Given the description of an element on the screen output the (x, y) to click on. 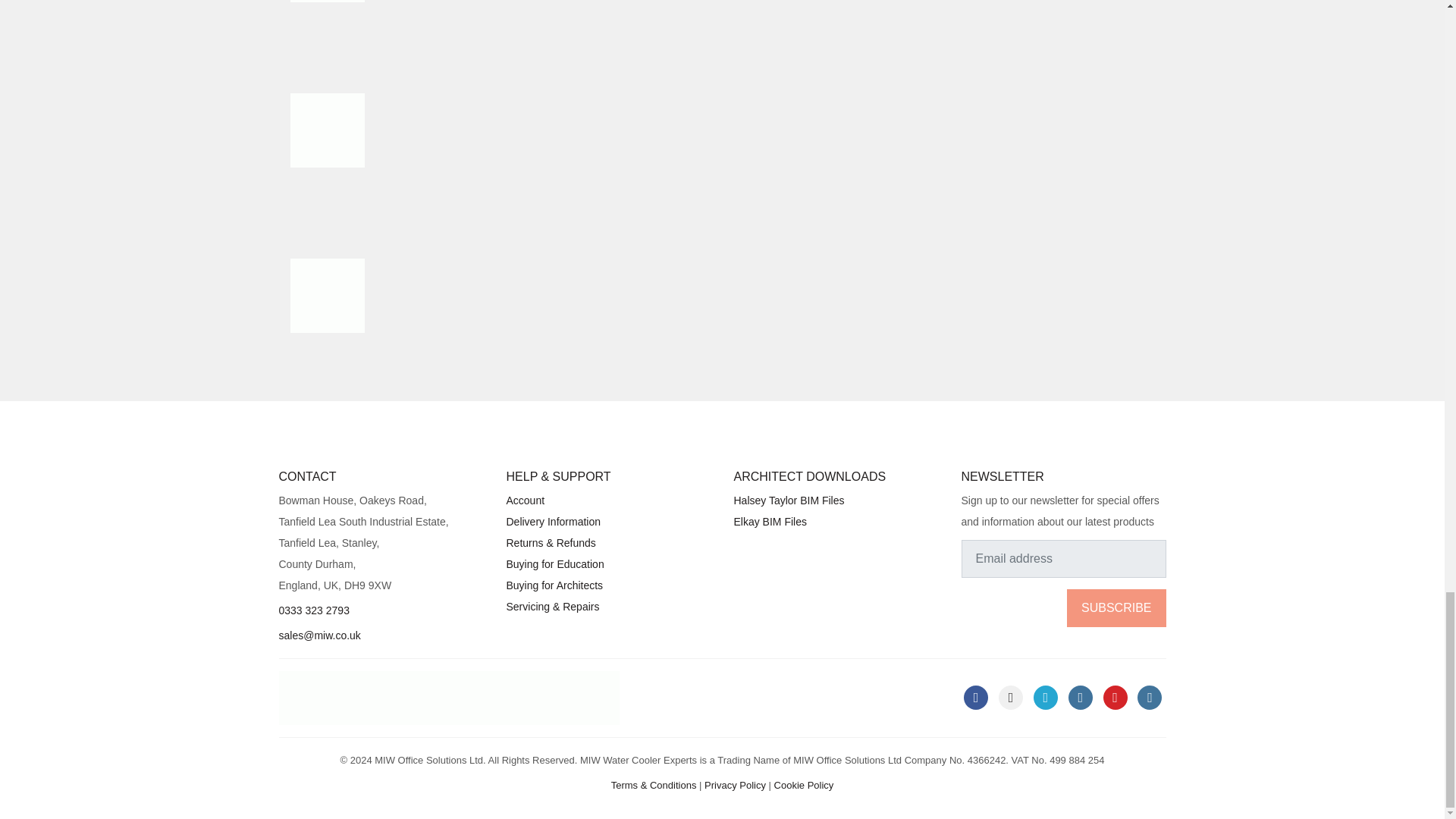
Youtube (1114, 697)
Twitter (1045, 697)
LinkedIn (1010, 697)
Facebook (975, 697)
Vimeo (1149, 697)
Instagram (1080, 697)
